Given the description of an element on the screen output the (x, y) to click on. 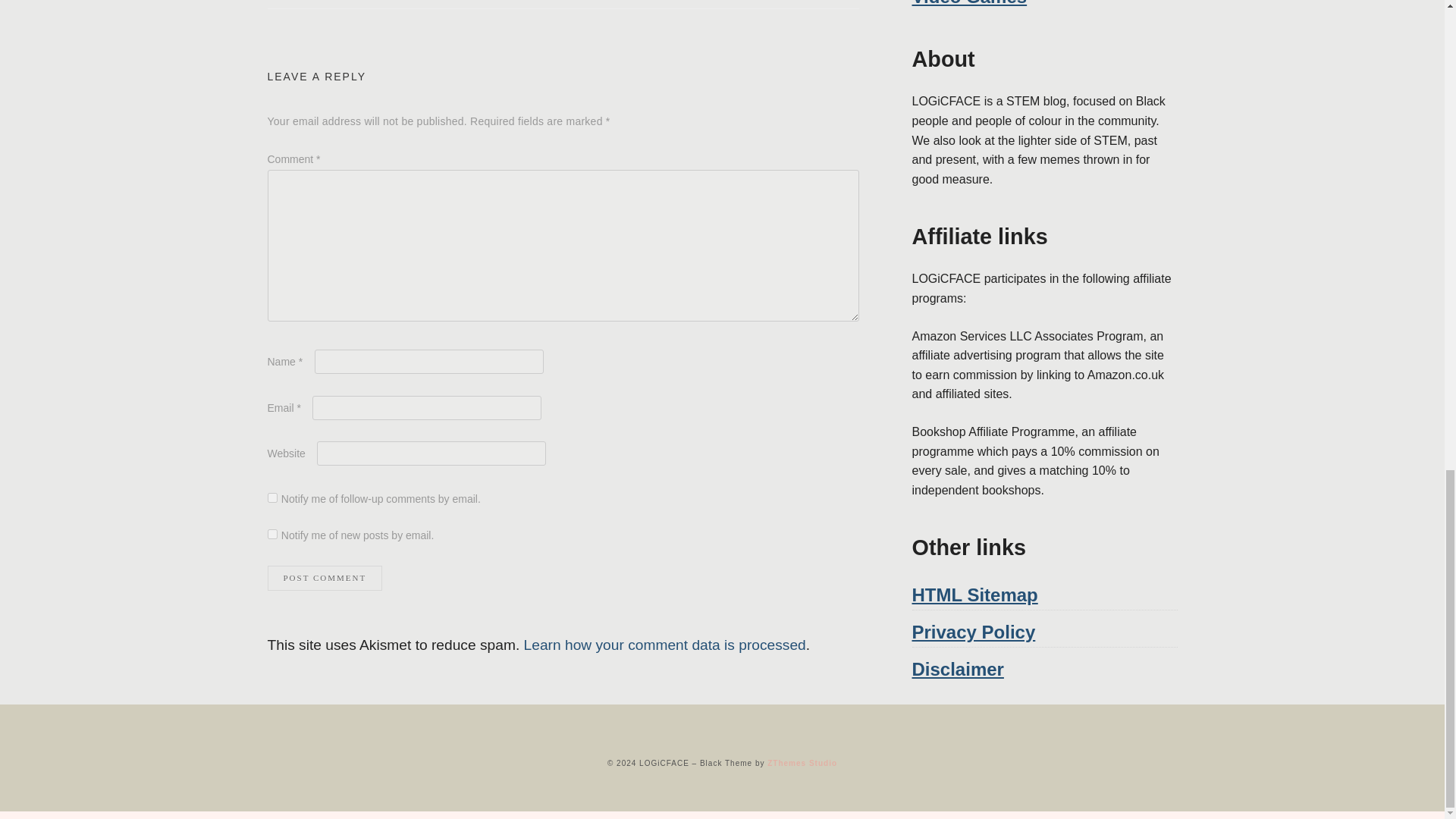
subscribe (271, 533)
Post Comment (323, 577)
Post Comment (323, 577)
Learn how your comment data is processed (665, 644)
subscribe (271, 497)
